Given the description of an element on the screen output the (x, y) to click on. 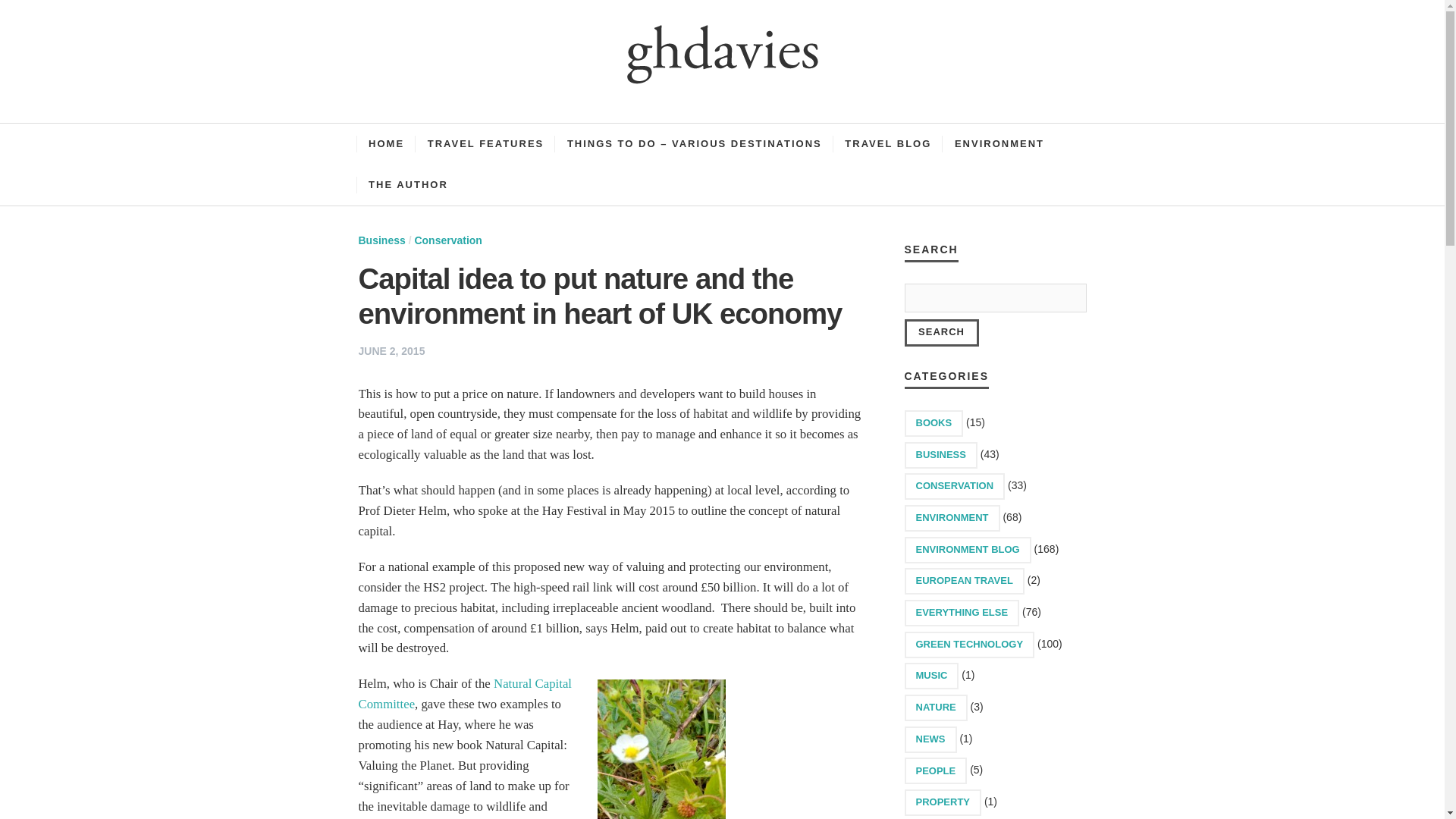
Natural Capital Committee (465, 693)
THE AUTHOR (408, 184)
MUSIC (931, 675)
ENVIRONMENT BLOG (967, 550)
GREEN TECHNOLOGY (968, 644)
Business (381, 240)
EVERYTHING ELSE (961, 612)
PROPERTY (942, 802)
BUSINESS (940, 455)
BOOKS (933, 423)
